Given the description of an element on the screen output the (x, y) to click on. 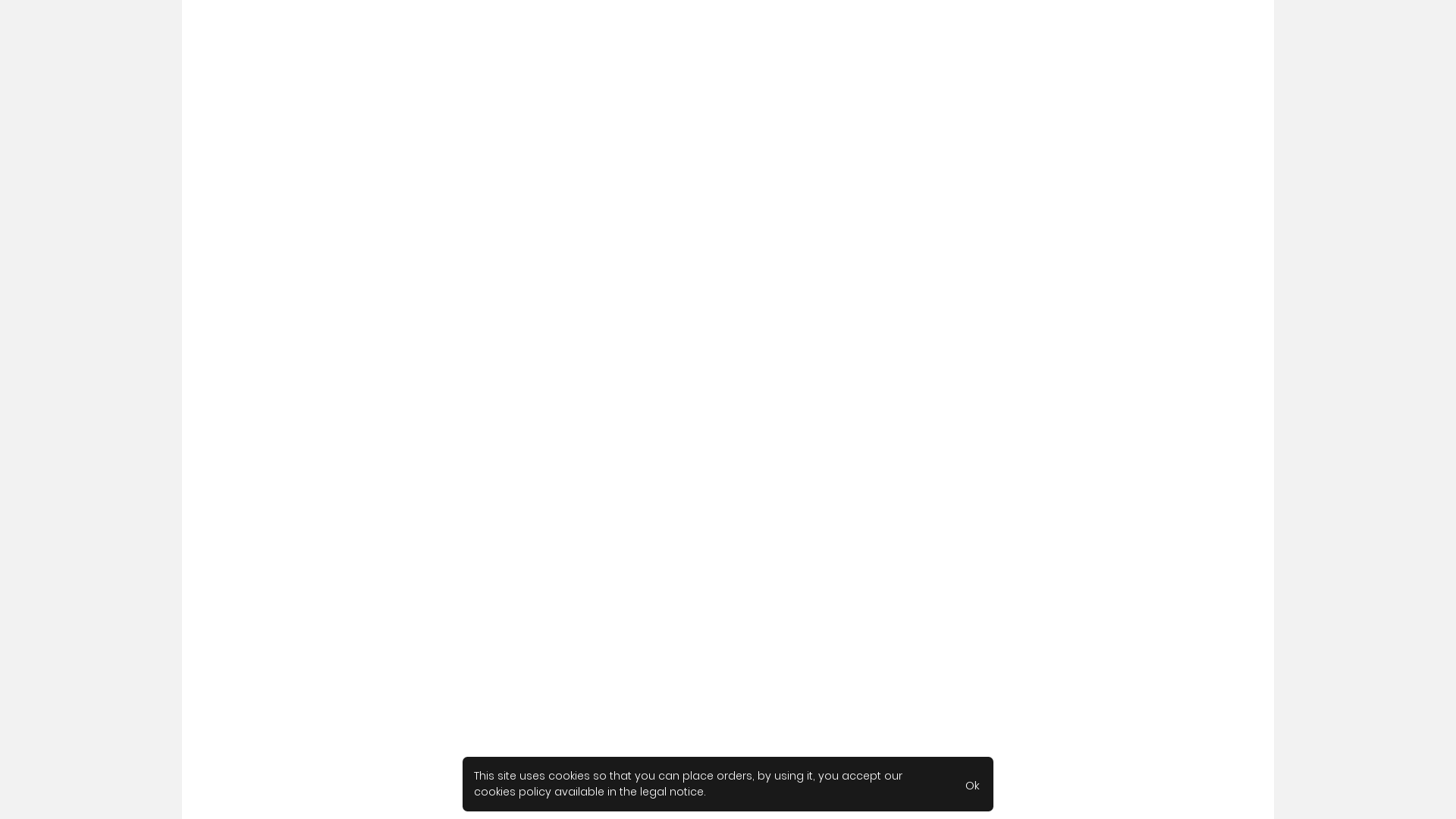
Ok Element type: text (972, 784)
